Given the description of an element on the screen output the (x, y) to click on. 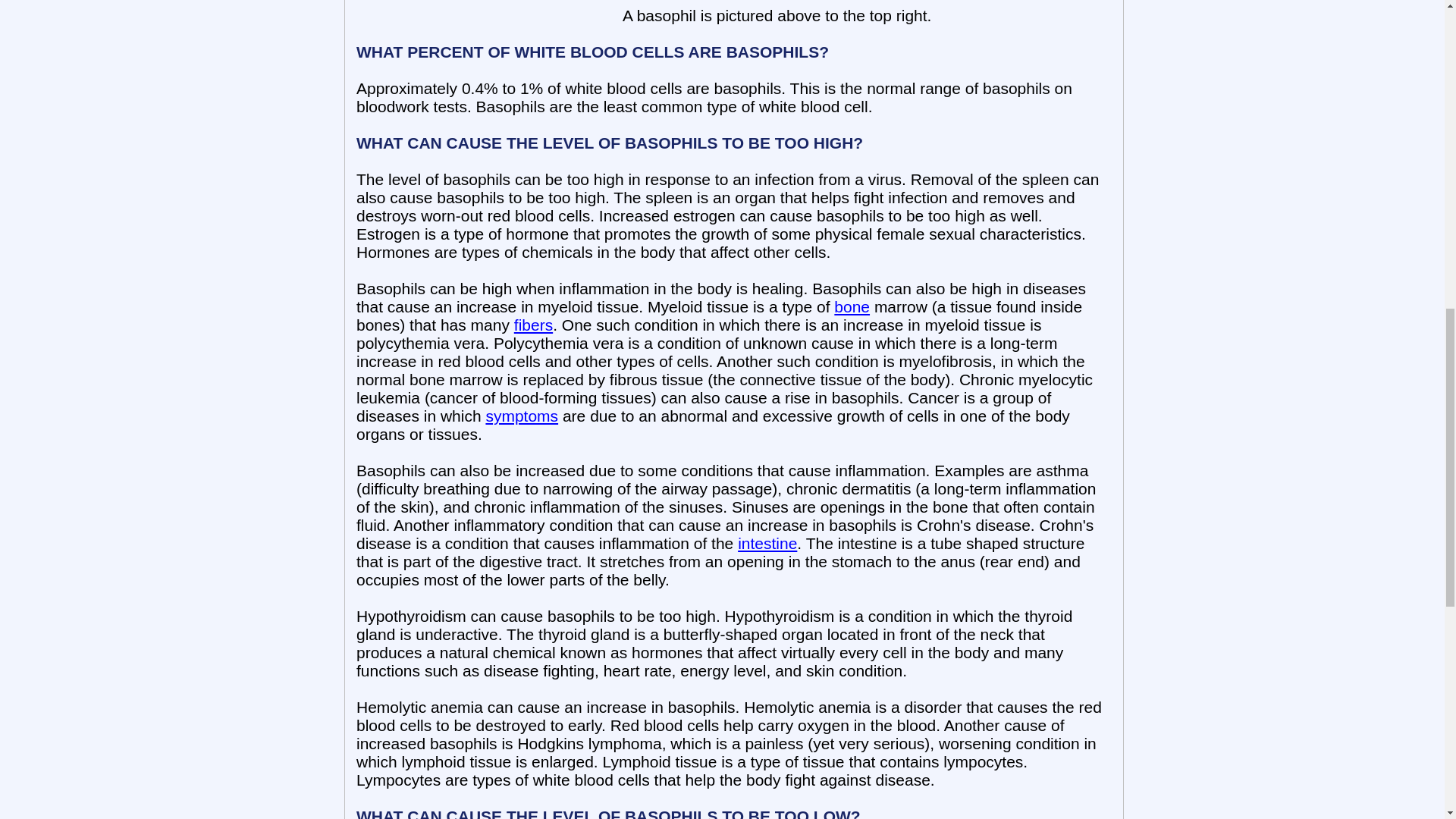
fibers (533, 324)
bone (851, 306)
intestine (767, 543)
symptoms (520, 416)
